Given the description of an element on the screen output the (x, y) to click on. 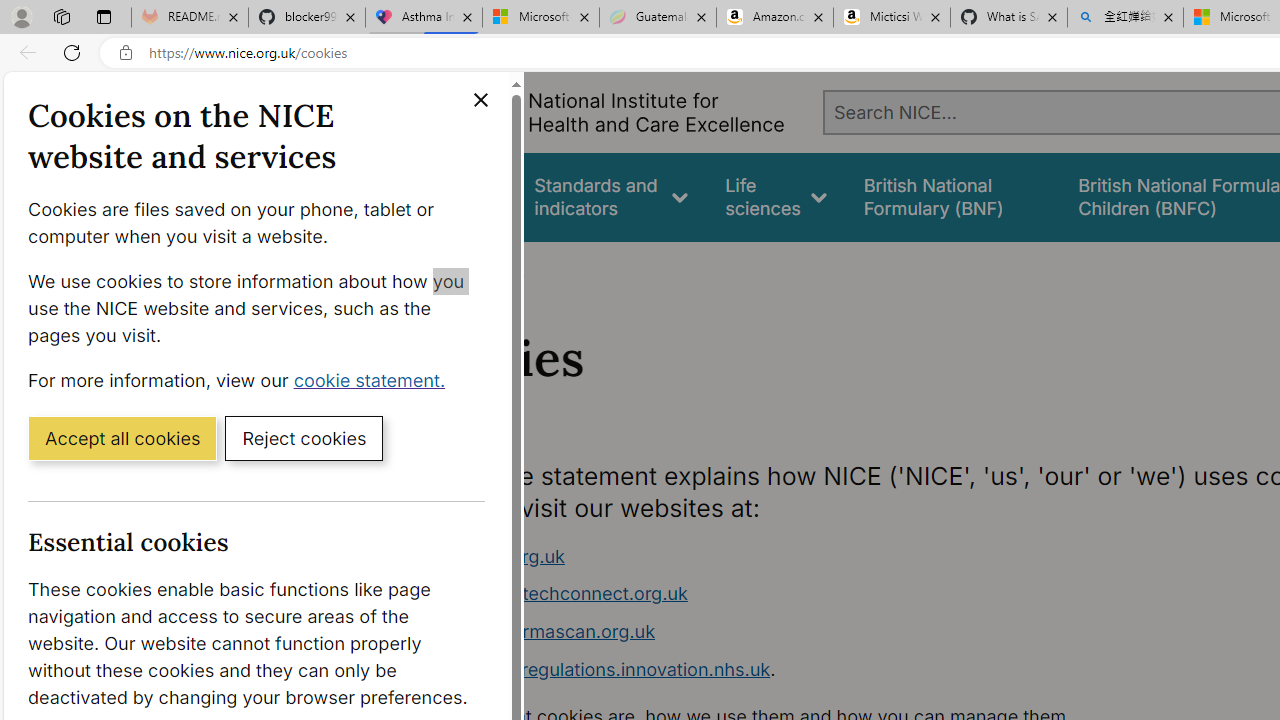
Reject cookies (304, 437)
www.nice.org.uk (796, 556)
Close cookie banner (480, 99)
Accept all cookies (122, 437)
www.ukpharmascan.org.uk (538, 631)
Asthma Inhalers: Names and Types (424, 17)
www.digitalregulations.innovation.nhs.uk (595, 668)
